Given the description of an element on the screen output the (x, y) to click on. 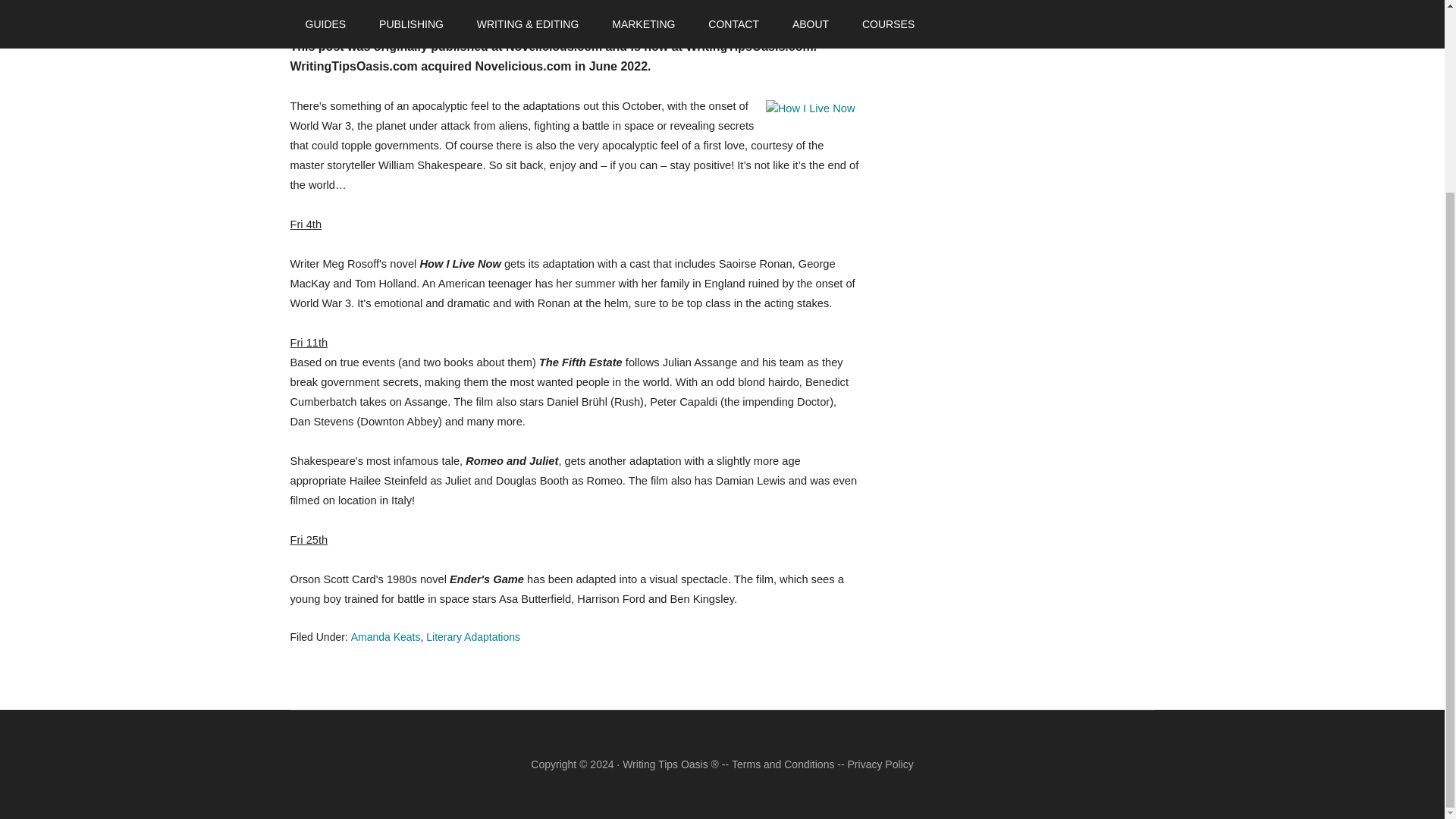
Amanda Keats (385, 636)
Literary Adaptations (472, 636)
Terms and Conditions (783, 764)
Novelicious (332, 5)
How I Live Now (810, 109)
Privacy Policy (880, 764)
